Given the description of an element on the screen output the (x, y) to click on. 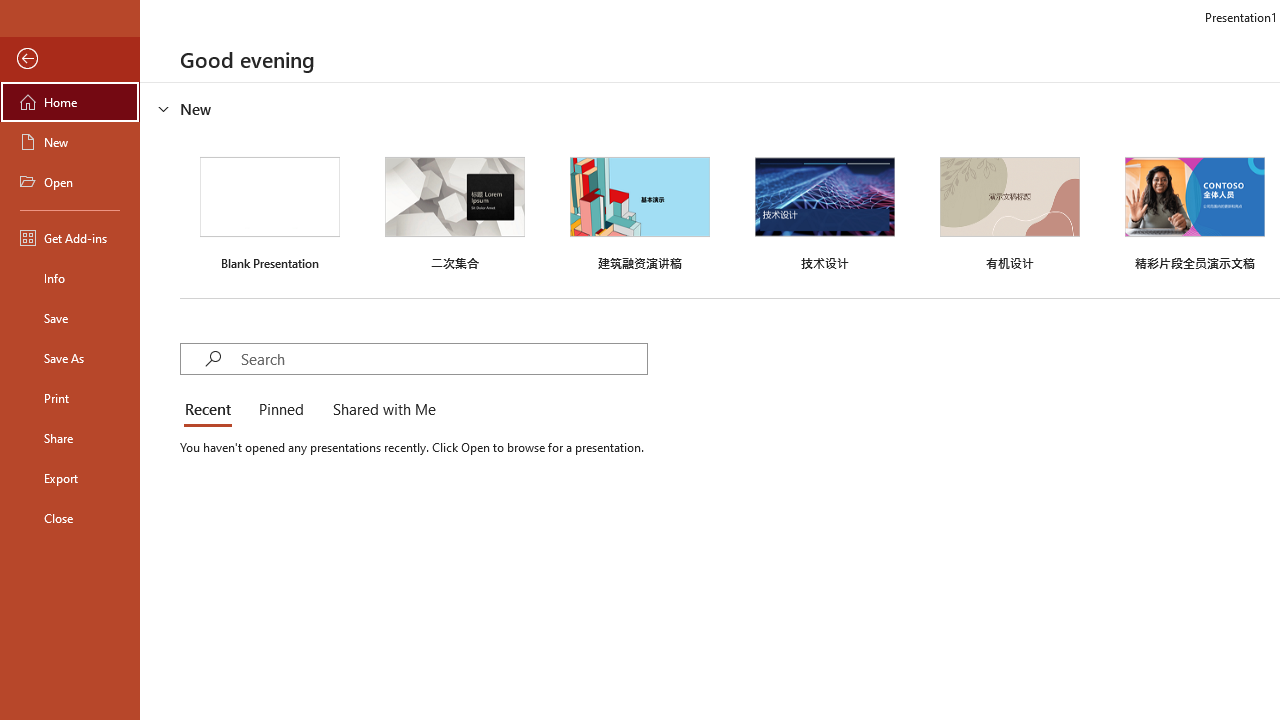
Recent (212, 410)
Back (69, 59)
Shared with Me (379, 410)
Print (69, 398)
Save As (69, 357)
Blank Presentation (269, 211)
Pinned (280, 410)
